Given the description of an element on the screen output the (x, y) to click on. 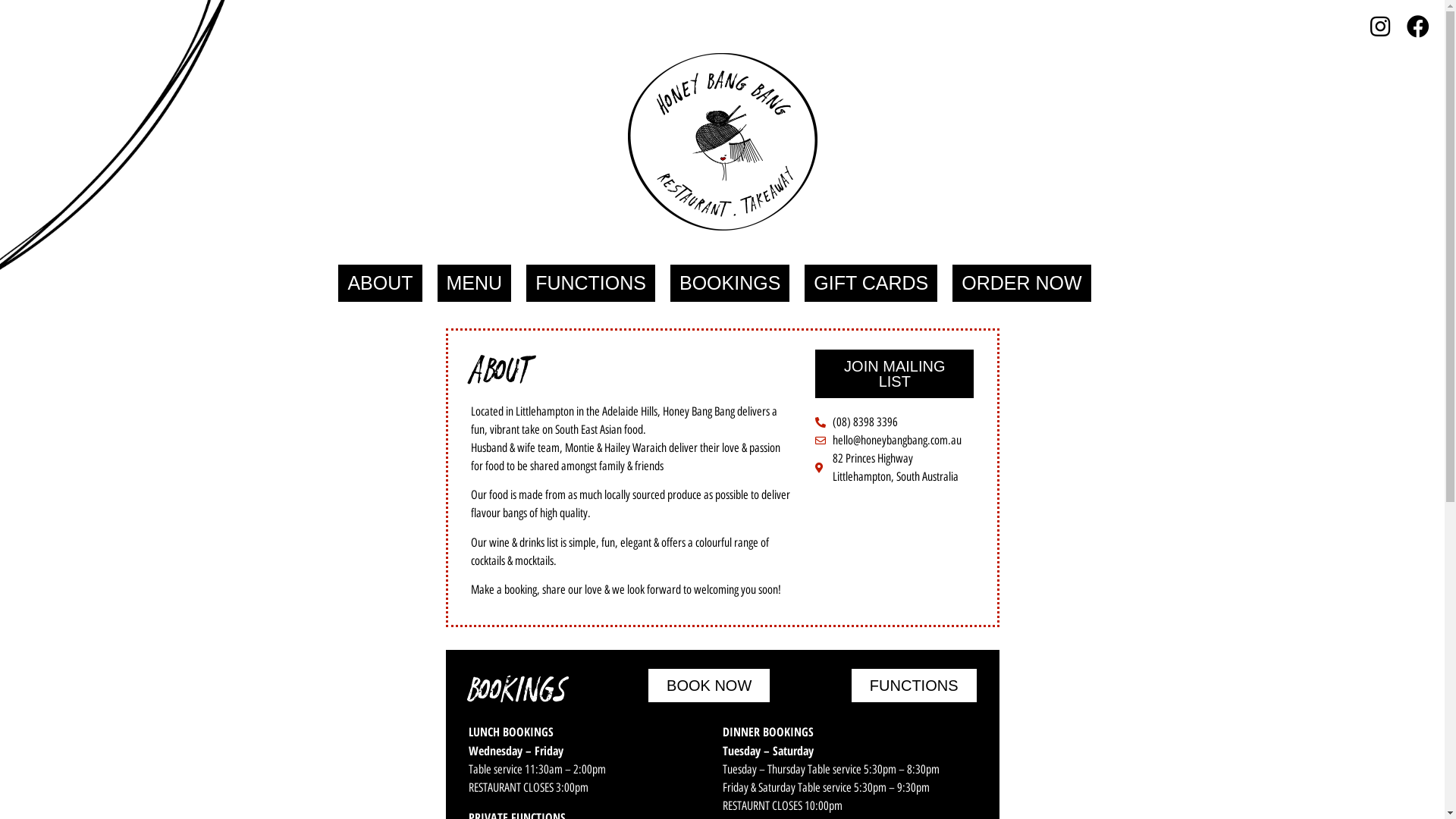
ORDER NOW Element type: text (1021, 282)
(08) 8398 3396 Element type: text (894, 422)
82 Princes Highway
Littlehampton, South Australia Element type: text (894, 467)
MENU Element type: text (474, 282)
hello@honeybangbang.com.au Element type: text (894, 440)
FUNCTIONS Element type: text (913, 685)
ABOUT Element type: text (379, 282)
FUNCTIONS Element type: text (590, 282)
JOIN MAILING LIST Element type: text (894, 373)
BOOKINGS Element type: text (729, 282)
BOOK NOW Element type: text (708, 685)
82 Princess Highway, Littlehampton Element type: hover (894, 554)
GIFT CARDS Element type: text (870, 282)
